Given the description of an element on the screen output the (x, y) to click on. 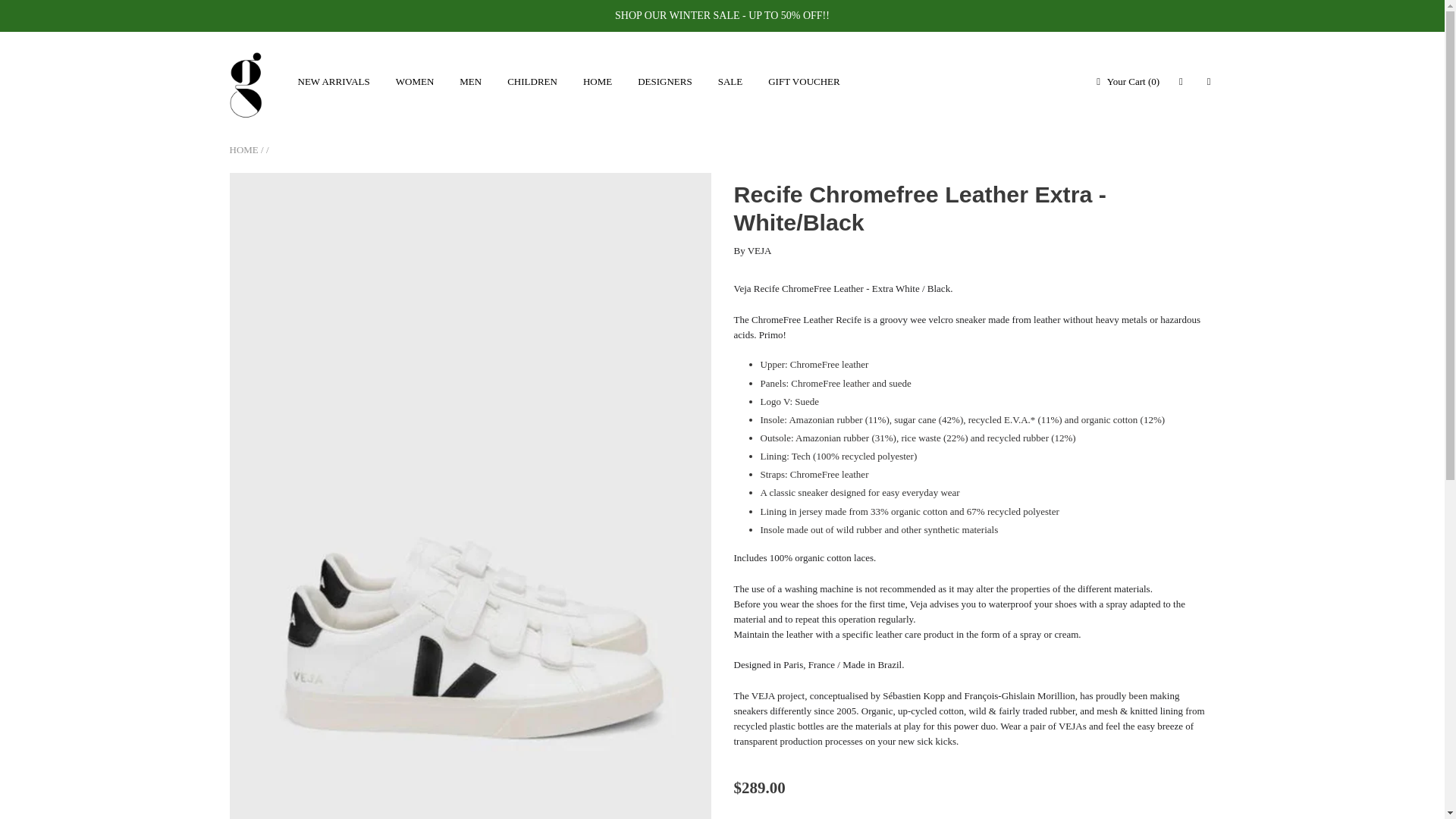
WOMEN (414, 81)
NEW ARRIVALS (333, 81)
MEN (470, 81)
